Given the description of an element on the screen output the (x, y) to click on. 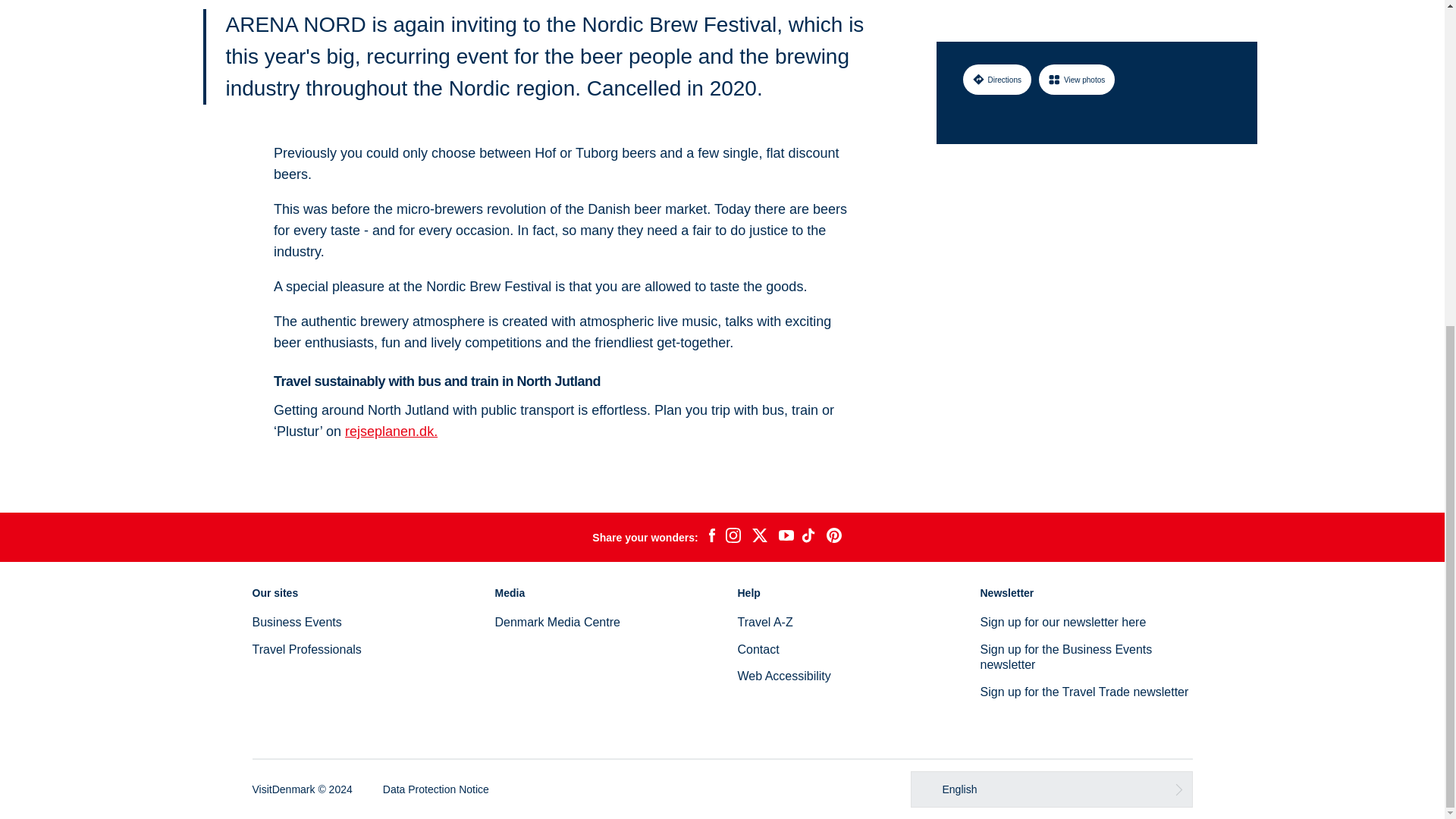
twitter (759, 537)
instagram (732, 537)
Contact (757, 649)
Business Events (295, 621)
facebook (711, 537)
pinterest (834, 537)
Business Events (295, 621)
tiktok (810, 537)
Contact (757, 649)
Travel Professionals (306, 649)
